Given the description of an element on the screen output the (x, y) to click on. 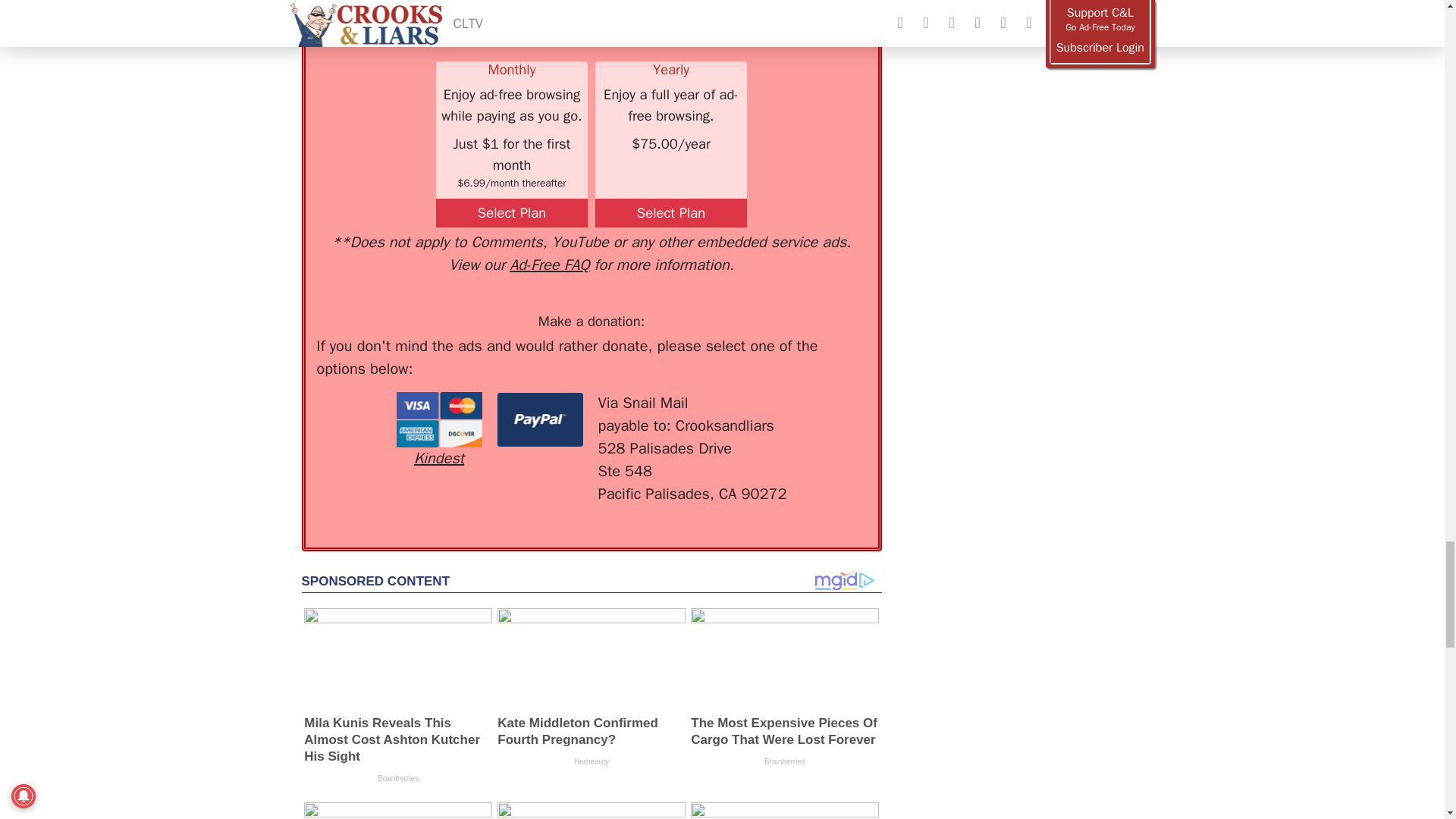
Ad-Free FAQ (549, 264)
Donate via Kindest (438, 431)
Donate via PayPal (540, 419)
Kindest (438, 431)
